Given the description of an element on the screen output the (x, y) to click on. 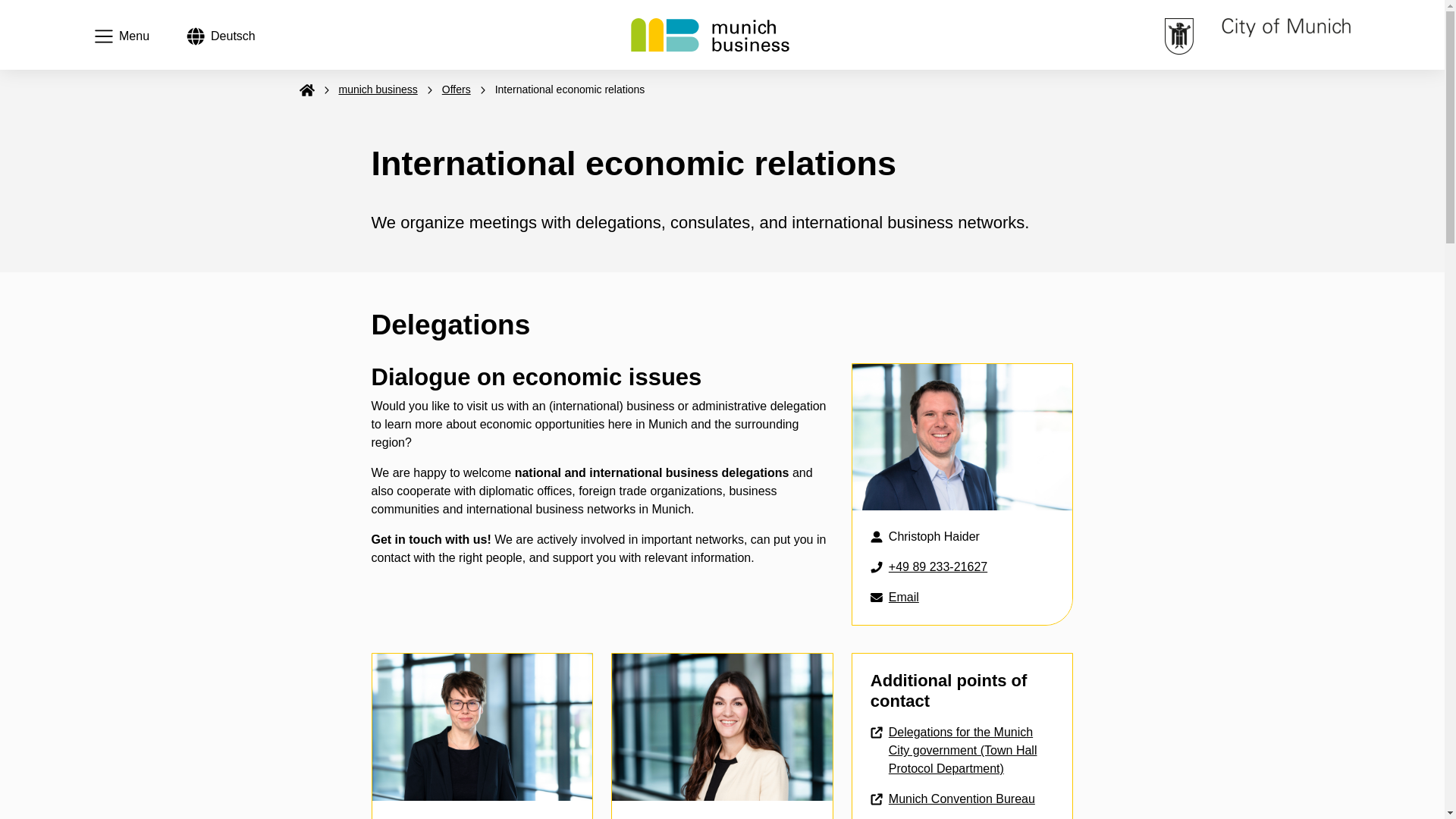
Business Development munich business (709, 34)
Menu (121, 35)
Business Development munich business (709, 33)
Munich Convention Bureau (221, 36)
Email (952, 799)
